Given the description of an element on the screen output the (x, y) to click on. 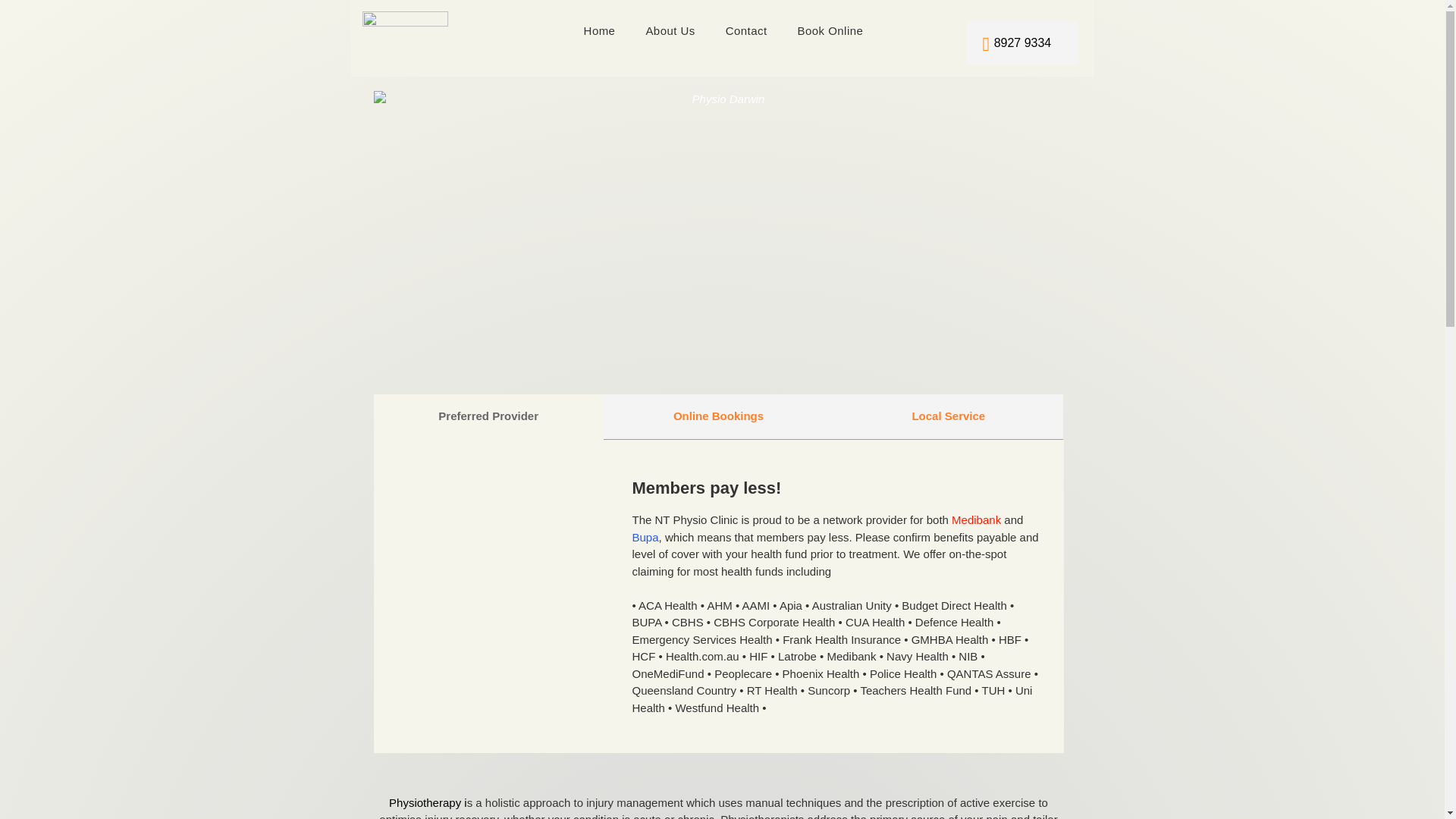
8927 9334 Element type: text (1022, 43)
Contact Element type: text (746, 31)
Book Online Element type: text (830, 31)
About Us Element type: text (669, 31)
Home Element type: text (599, 31)
